Given the description of an element on the screen output the (x, y) to click on. 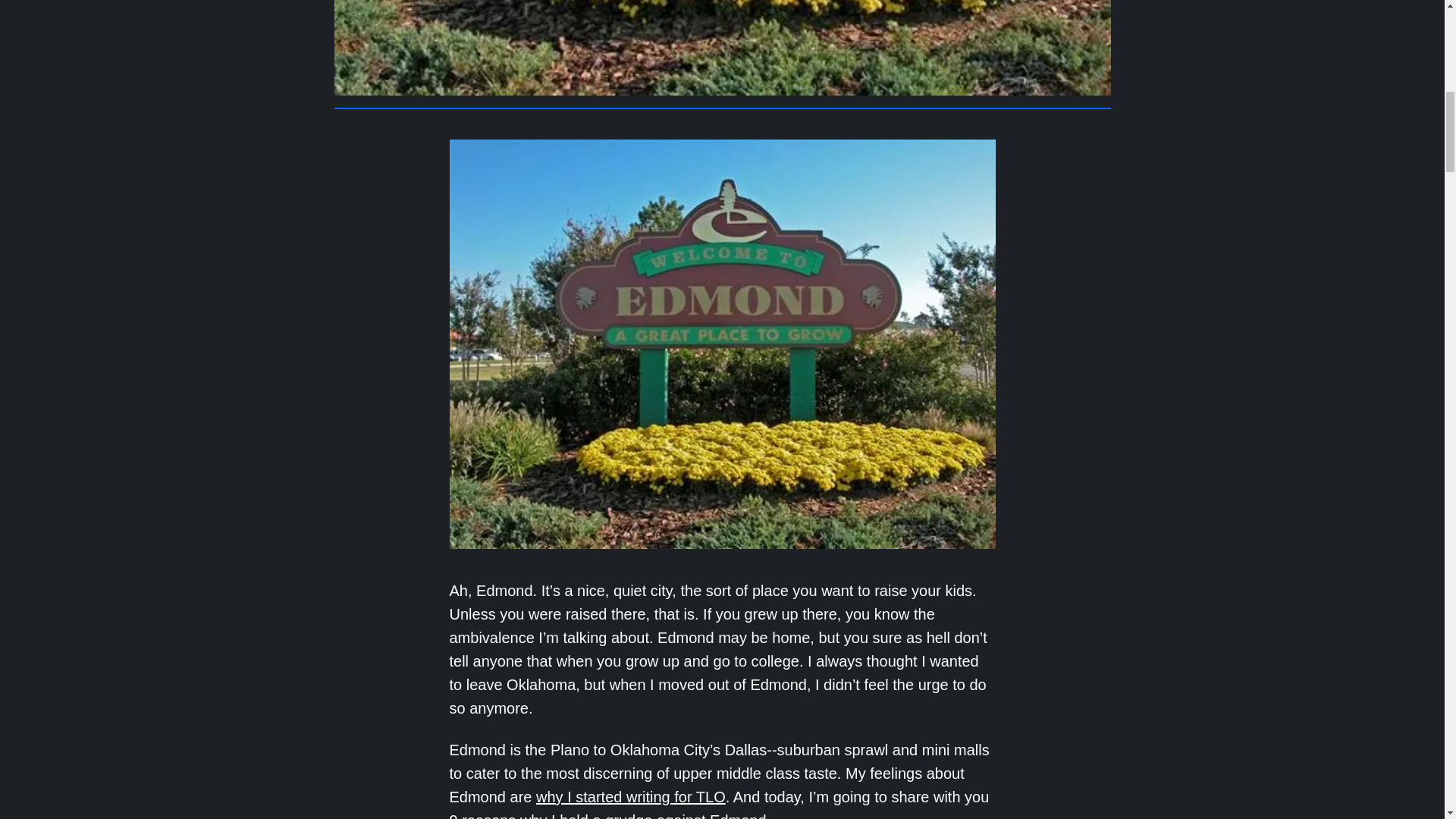
why I started writing for TLO (630, 796)
